Given the description of an element on the screen output the (x, y) to click on. 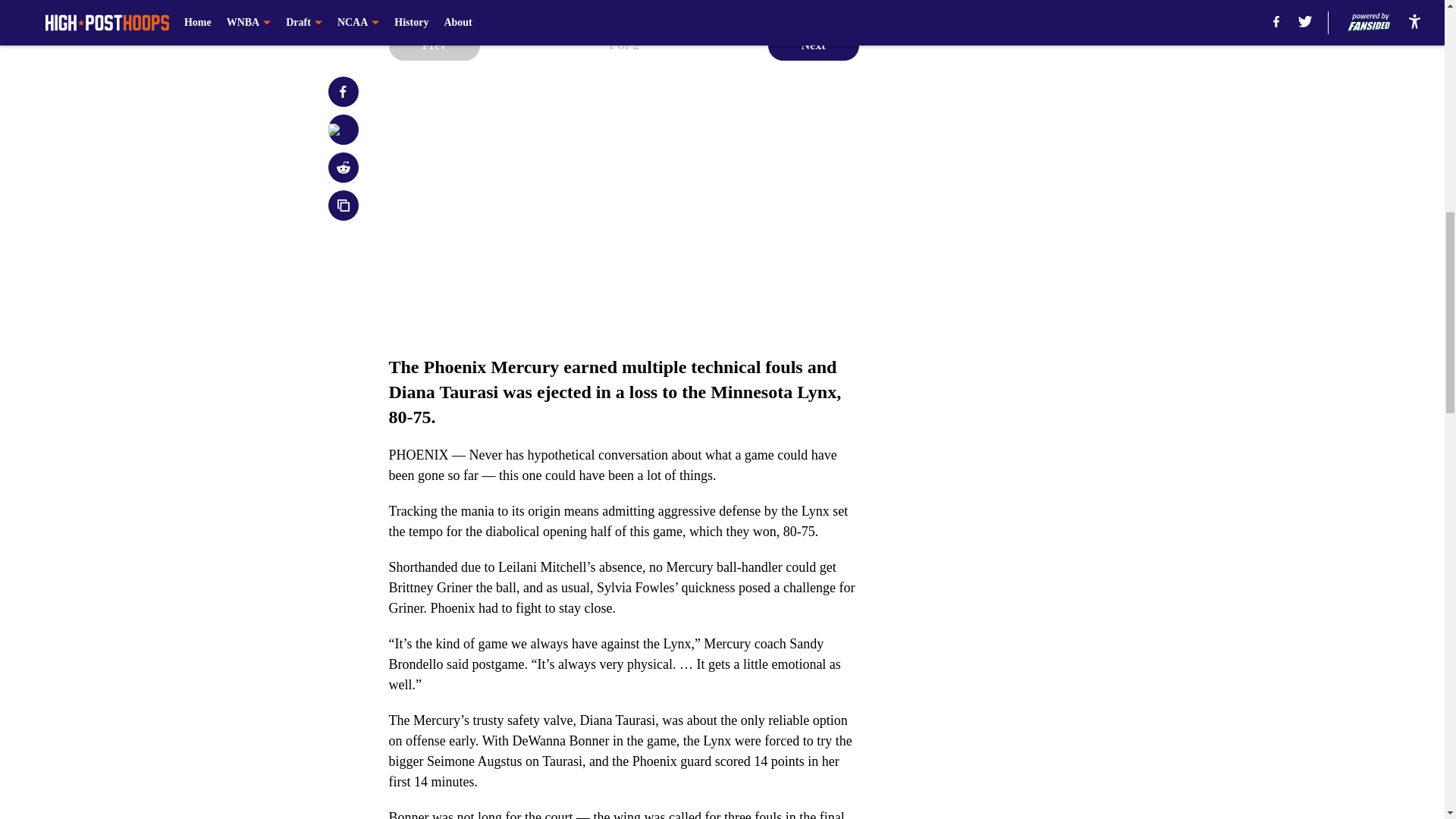
Next (813, 45)
Prev (433, 45)
